Given the description of an element on the screen output the (x, y) to click on. 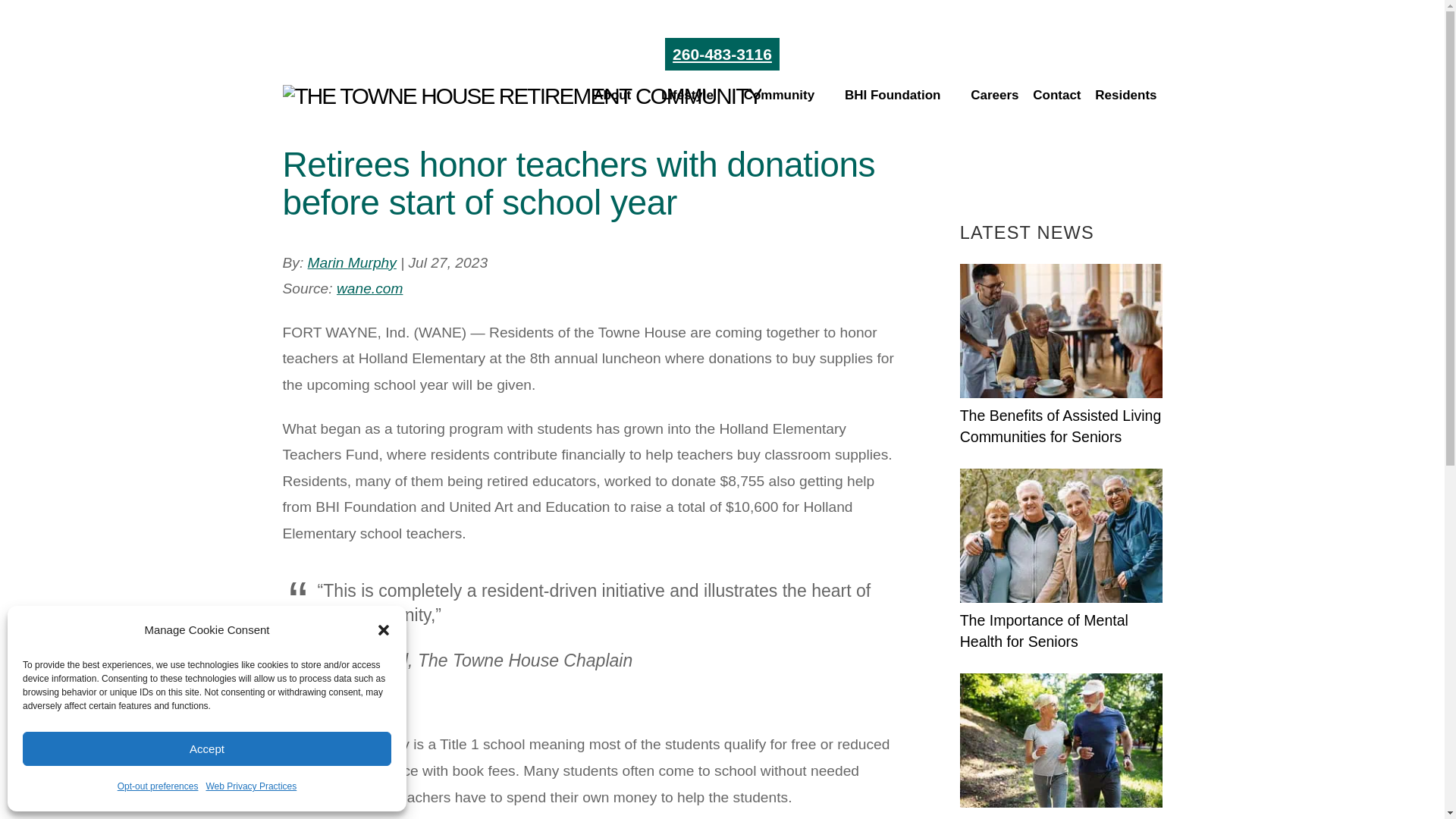
Careers (994, 100)
About (619, 100)
260-483-3116 (721, 53)
Community (787, 100)
Web Privacy Practices (251, 786)
Accept (207, 748)
What is a Continuing Care Retirement Community? (1060, 740)
BHI Foundation (900, 100)
The Benefits of Assisted Living Communities for Seniors (1060, 330)
The Towne House Retirement Community (521, 95)
Opt-out preferences (157, 786)
Lifestyle (694, 100)
The Importance of Mental Health for Seniors (1060, 535)
Contact (1056, 100)
